Given the description of an element on the screen output the (x, y) to click on. 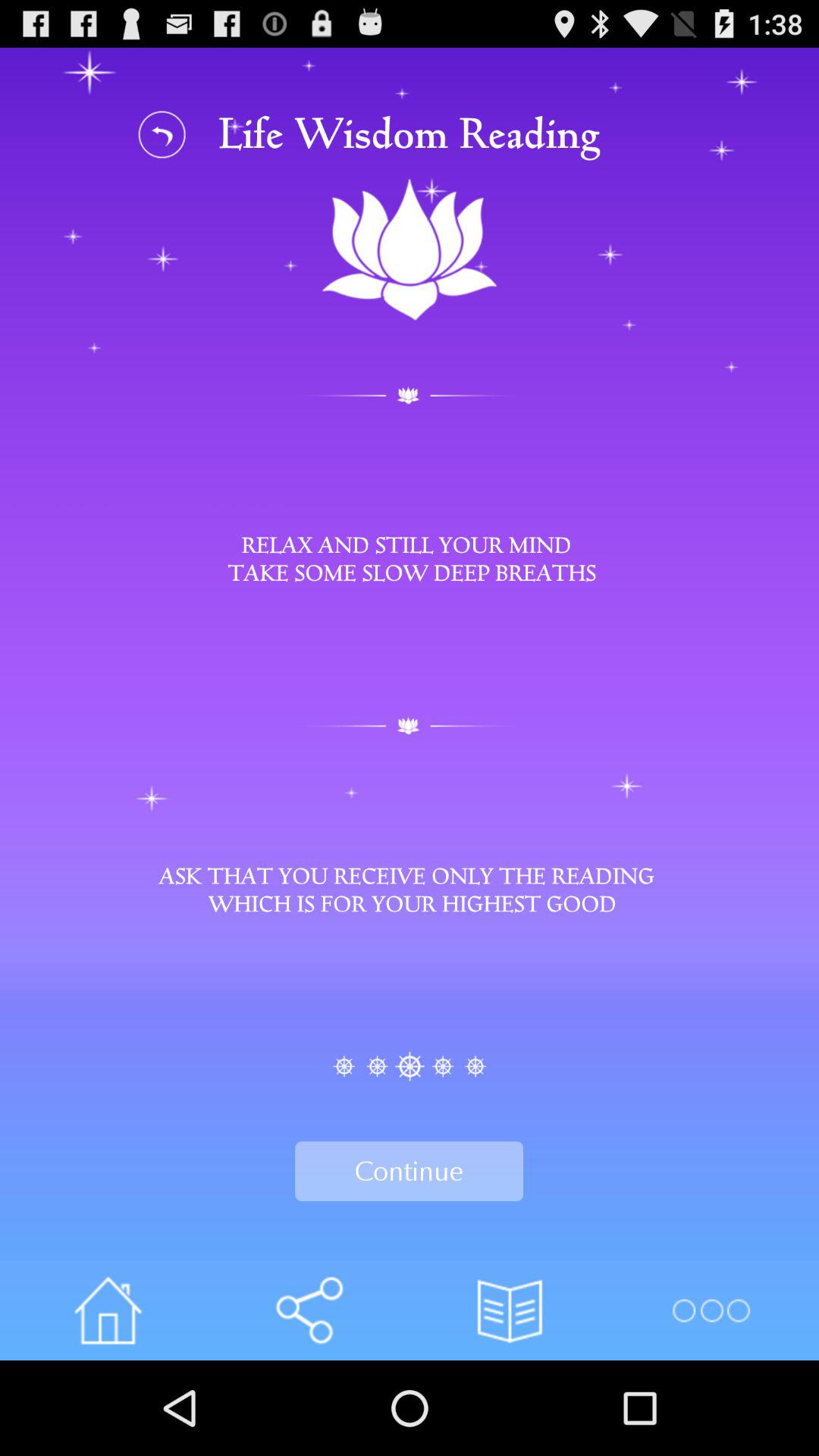
share this page (308, 1310)
